Given the description of an element on the screen output the (x, y) to click on. 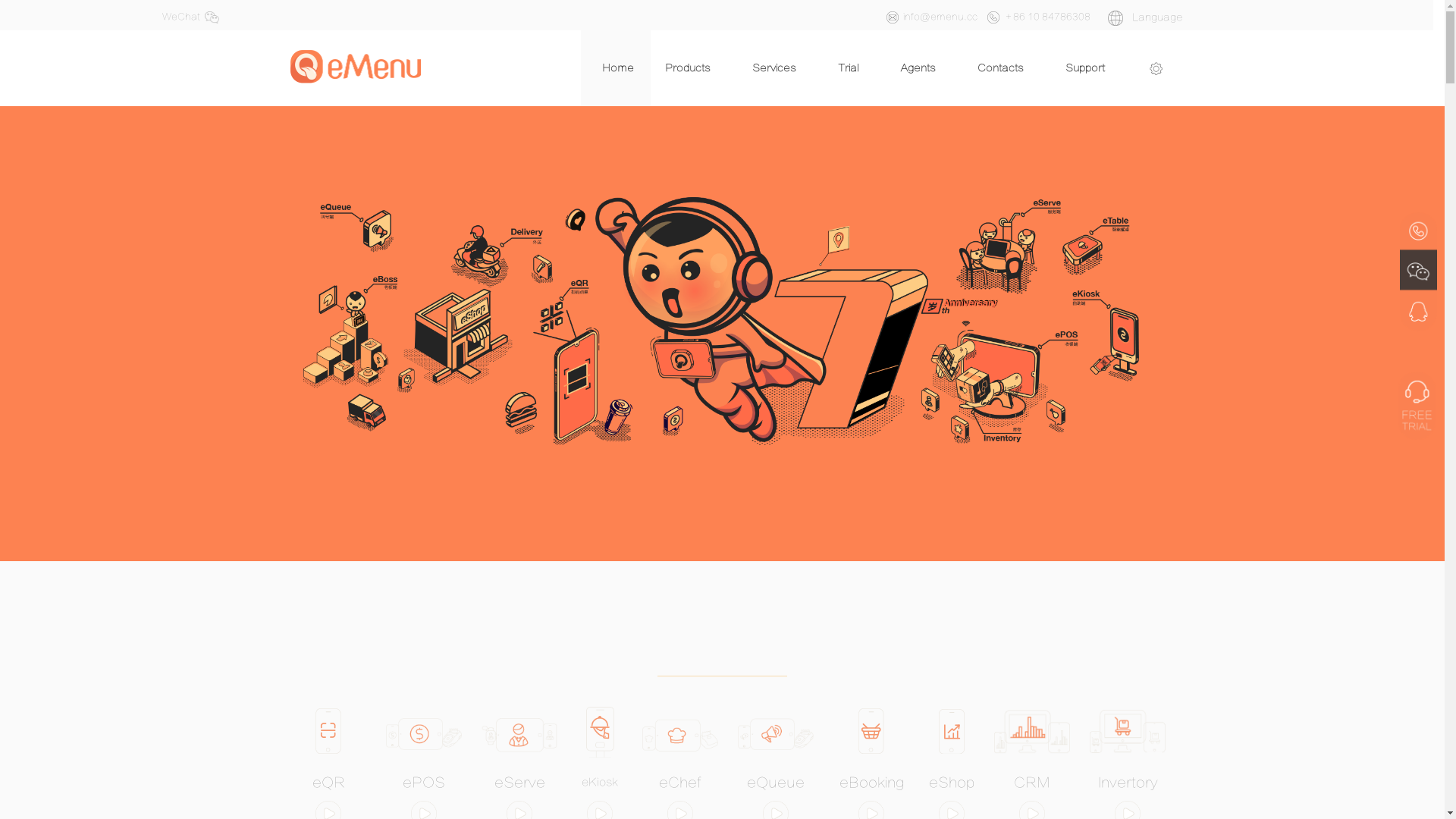
eChef Element type: text (679, 780)
Trial Element type: text (846, 68)
  Language Element type: text (1145, 17)
Agents Element type: text (917, 68)
eQR Element type: text (328, 780)
ePOS Element type: text (423, 780)
Invertory Element type: text (1127, 780)
eBooking Element type: text (870, 780)
Products Element type: text (687, 68)
eQueue Element type: text (775, 780)
eServe Element type: text (519, 780)
Home Element type: text (612, 68)
eKiosk Element type: text (599, 779)
CRM Element type: text (1031, 780)
Contacts Element type: text (999, 68)
Support Element type: text (1084, 68)
eShop Element type: text (951, 780)
Services Element type: text (773, 68)
